Given the description of an element on the screen output the (x, y) to click on. 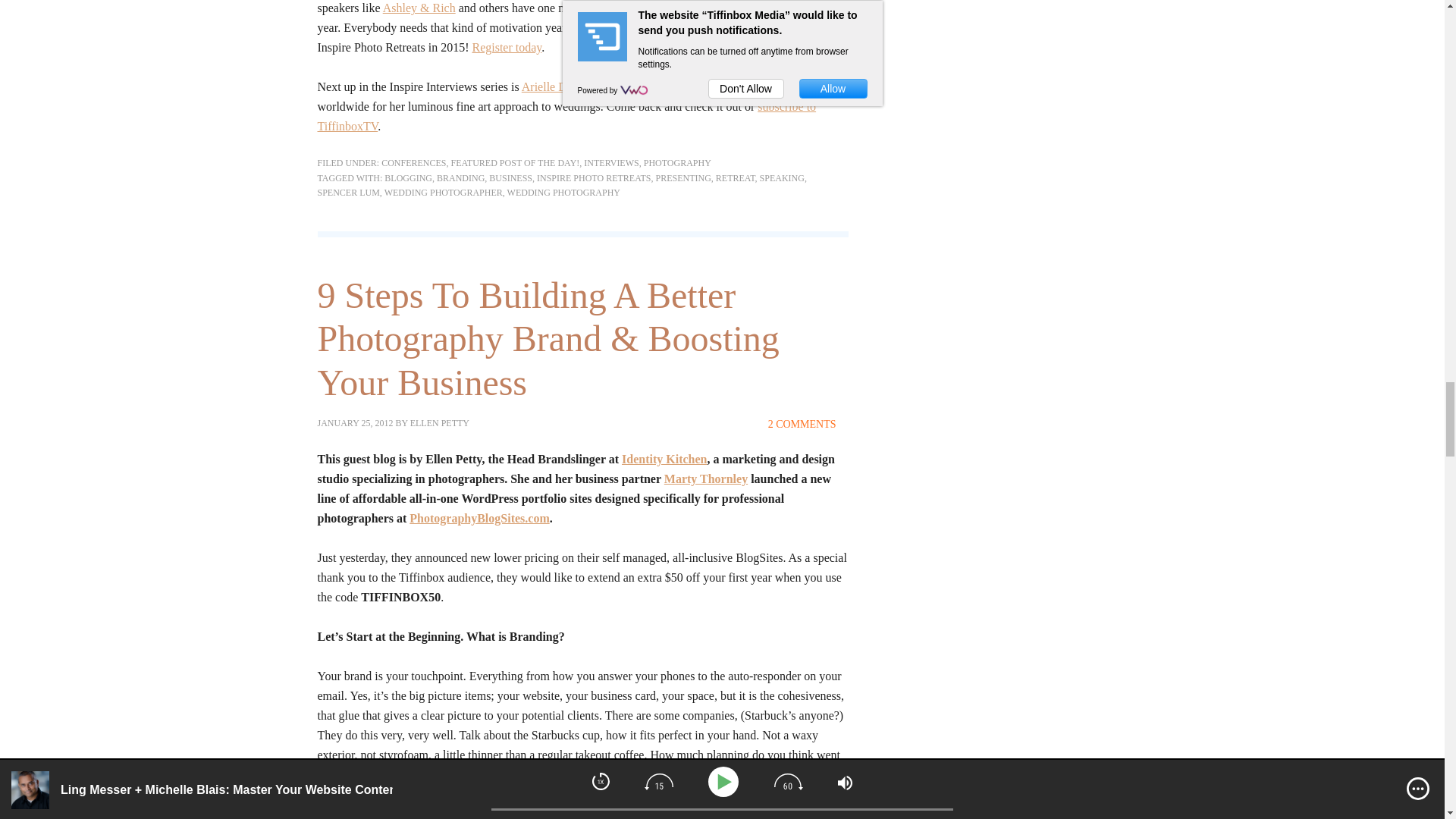
WEDDING PHOTOGRAPHER (443, 192)
PRESENTING (682, 177)
ELLEN PETTY (439, 422)
Register today (506, 47)
PHOTOGRAPHY (677, 163)
WEDDING PHOTOGRAPHY (563, 192)
INTERVIEWS (611, 163)
subscribe to TiffinboxTV (566, 115)
2 COMMENTS (801, 423)
CONFERENCES (413, 163)
FEATURED POST OF THE DAY! (515, 163)
RETREAT (735, 177)
Arielle Doneson, (562, 86)
BLOGGING (408, 177)
BUSINESS (510, 177)
